Given the description of an element on the screen output the (x, y) to click on. 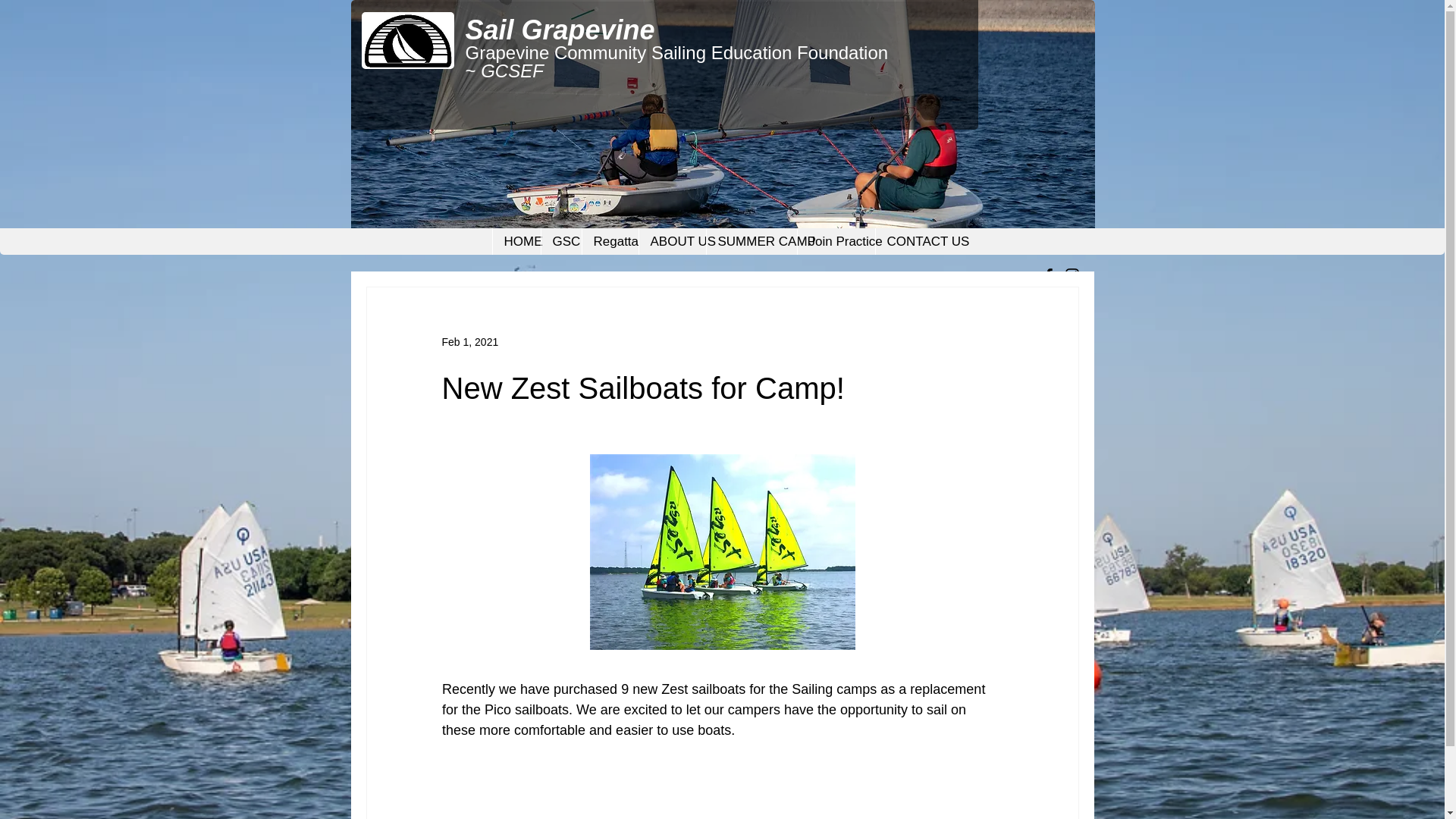
GSC (560, 241)
Regatta (608, 241)
SUMMER CAMP (750, 241)
Feb 1, 2021 (469, 340)
ABOUT US (672, 241)
Join Practice (835, 241)
CONTACT US (914, 241)
HOME (516, 241)
